Given the description of an element on the screen output the (x, y) to click on. 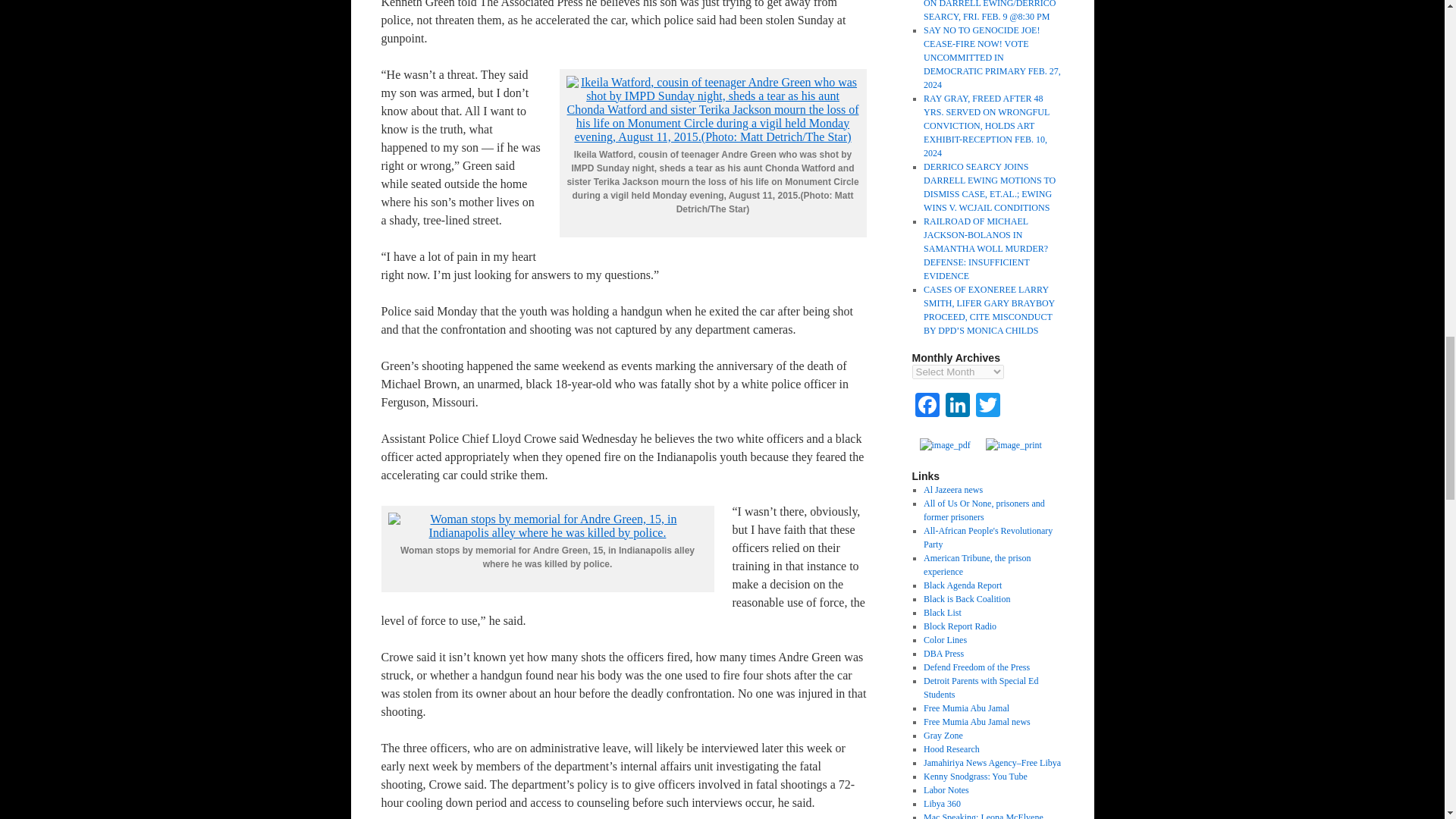
LinkedIn (957, 406)
Facebook (926, 406)
